Given the description of an element on the screen output the (x, y) to click on. 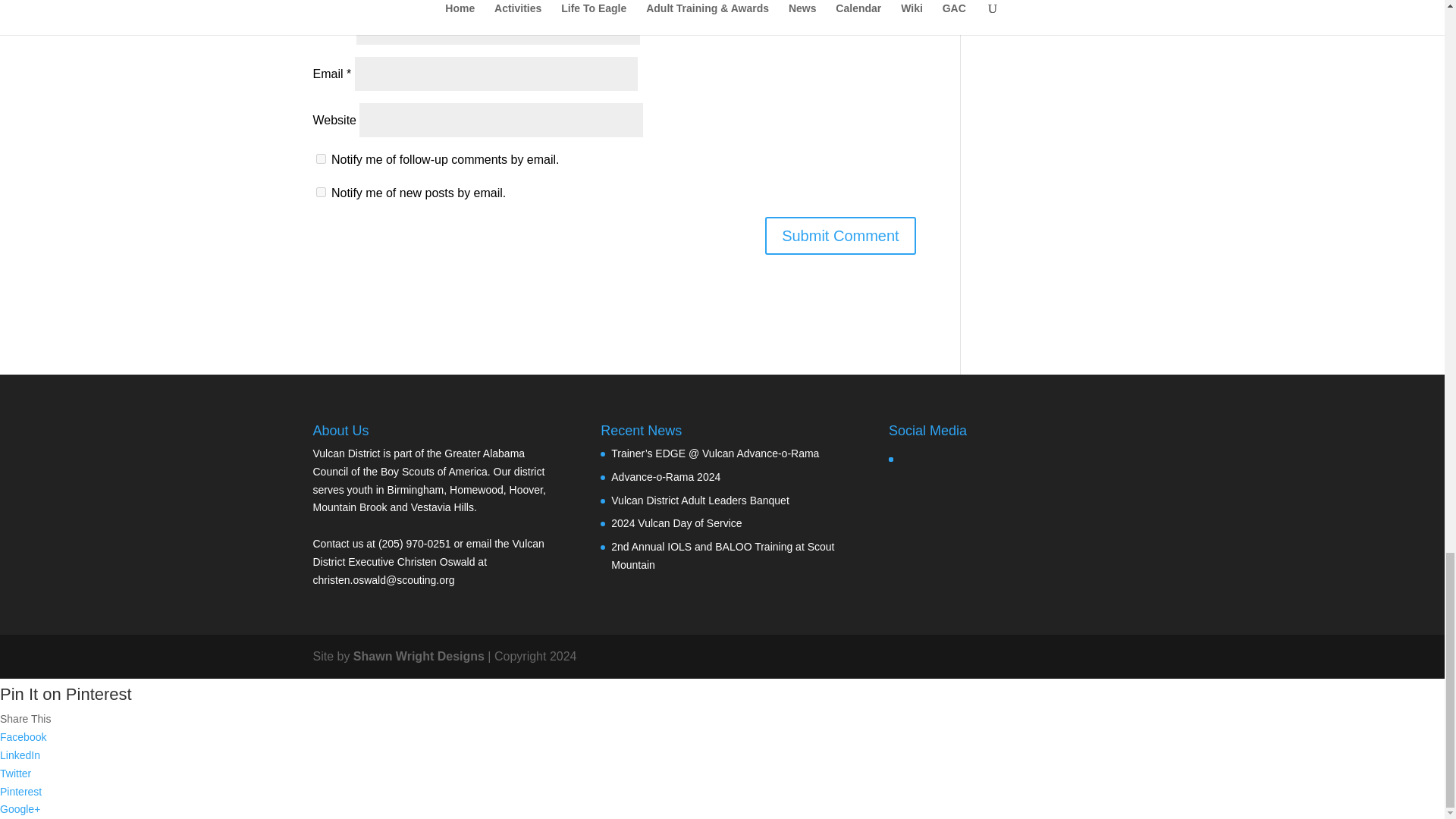
subscribe (319, 192)
subscribe (319, 158)
Submit Comment (840, 235)
Submit Comment (840, 235)
